Given the description of an element on the screen output the (x, y) to click on. 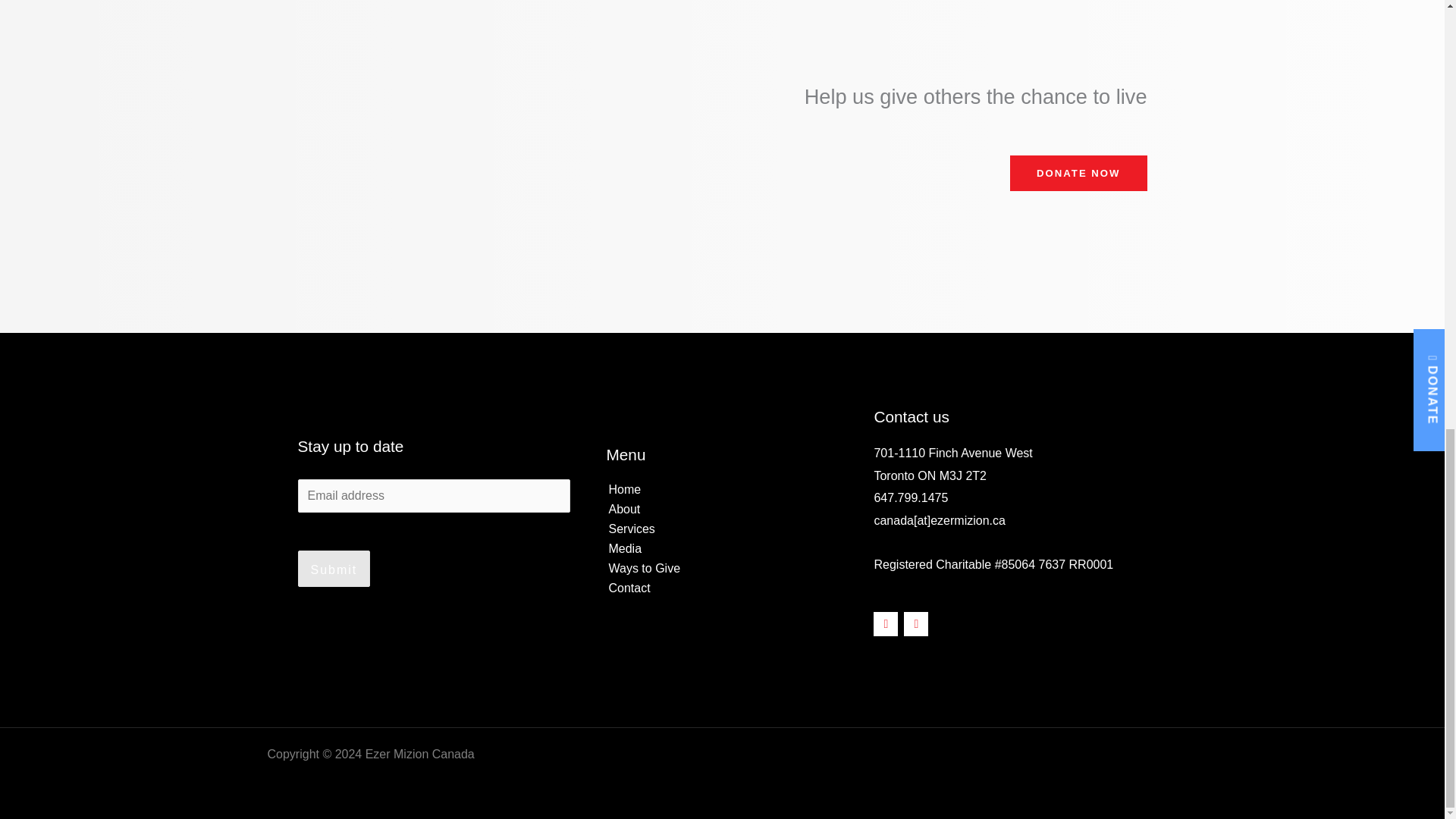
Ways to Give (722, 568)
DONATE NOW (1078, 172)
Media (722, 548)
Home (722, 489)
Services (722, 528)
Submit (333, 568)
About (722, 509)
